Given the description of an element on the screen output the (x, y) to click on. 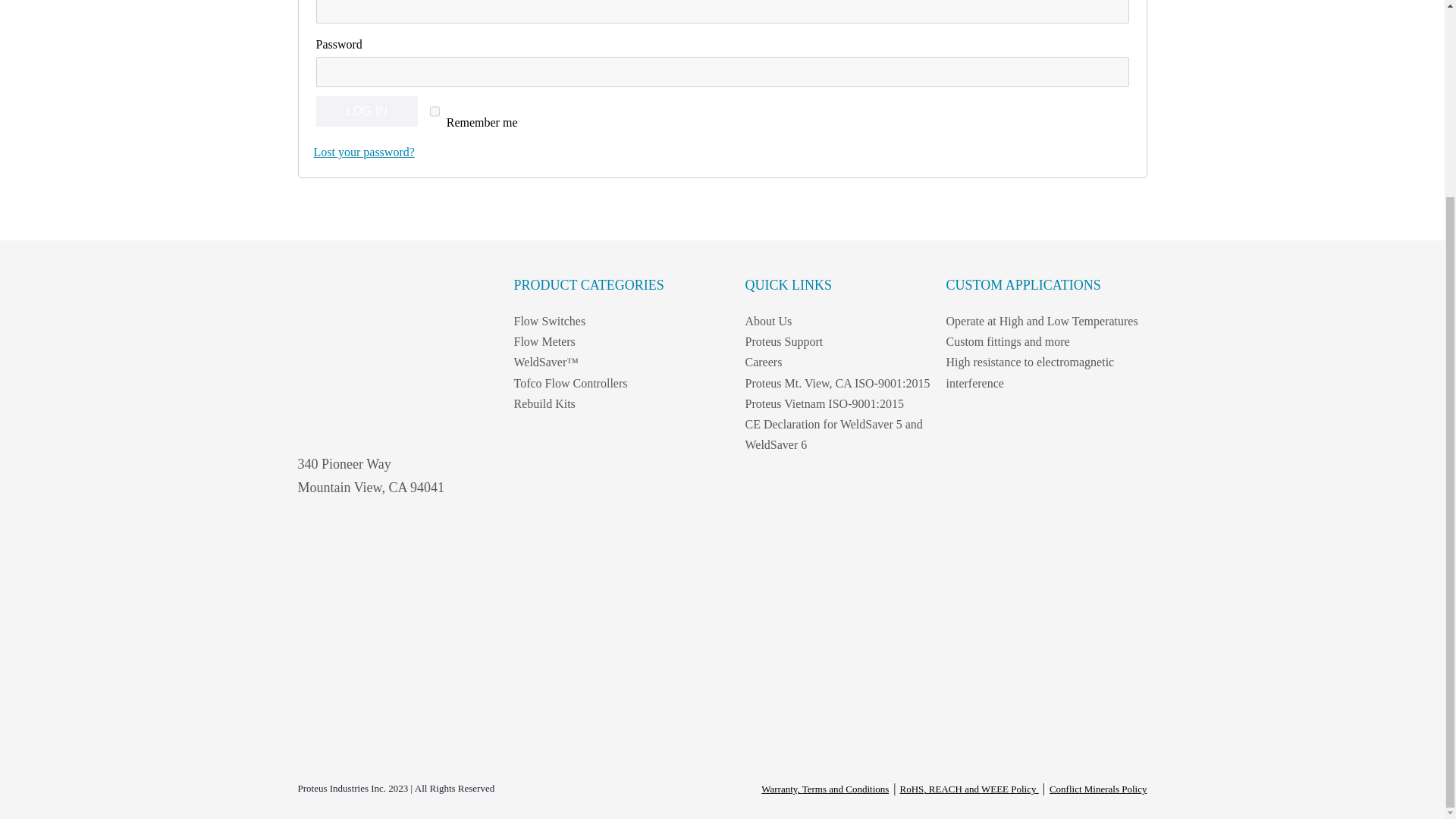
ISO (319, 544)
ce (362, 639)
